Given the description of an element on the screen output the (x, y) to click on. 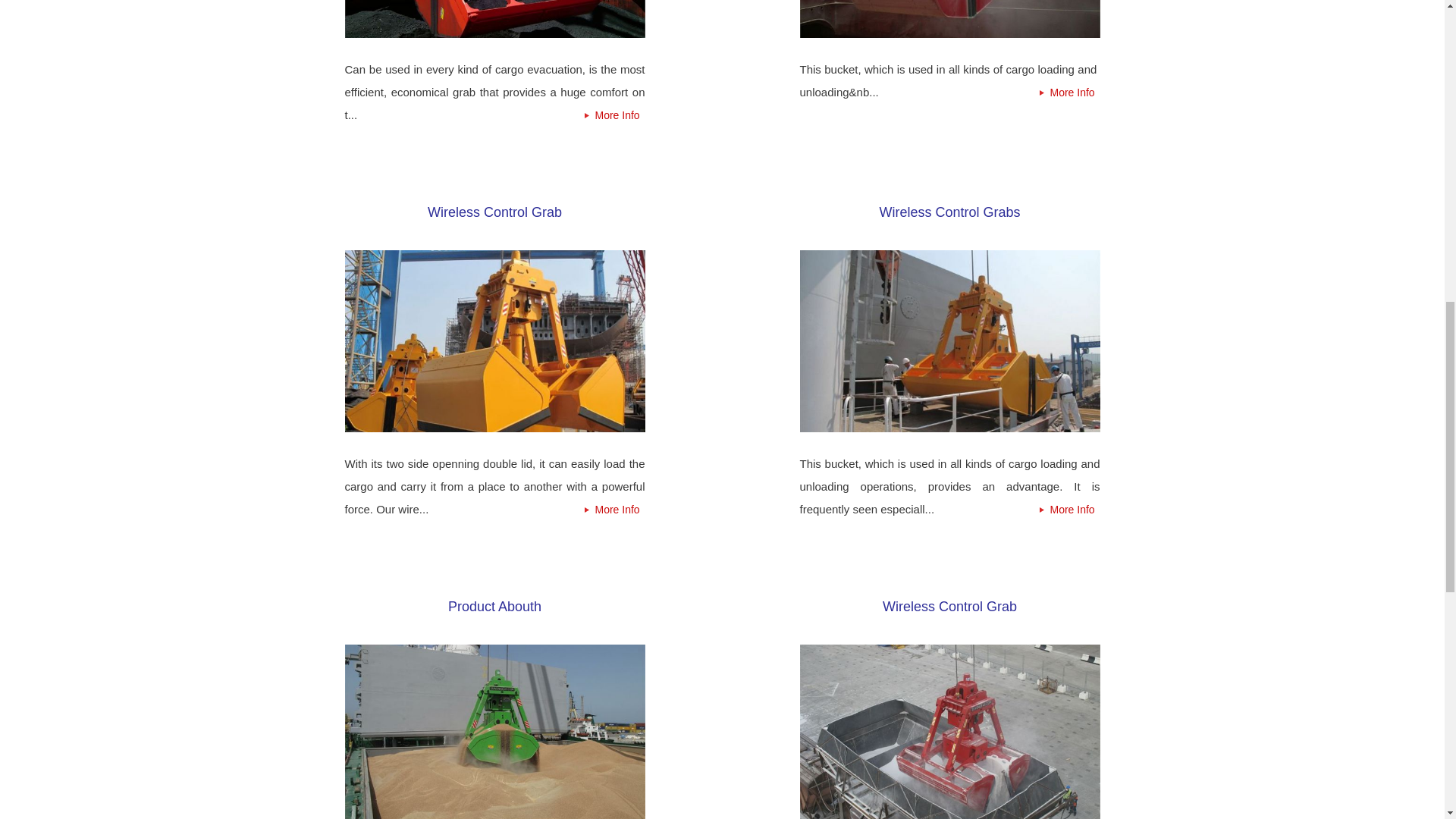
More Info (614, 508)
More Info (614, 115)
More Info (1069, 508)
More Info (1069, 92)
